Given the description of an element on the screen output the (x, y) to click on. 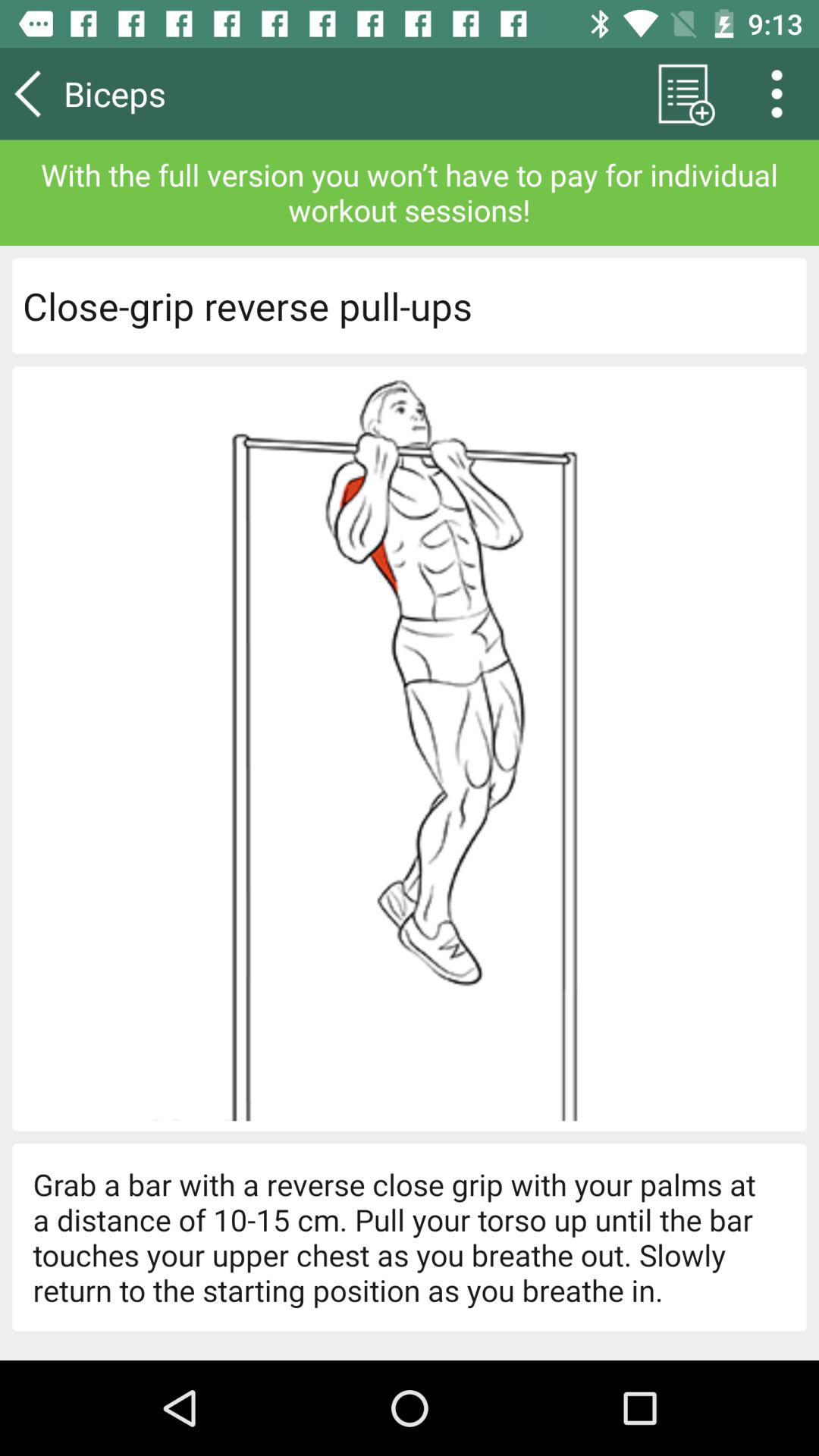
jump to the biceps icon (157, 93)
